Given the description of an element on the screen output the (x, y) to click on. 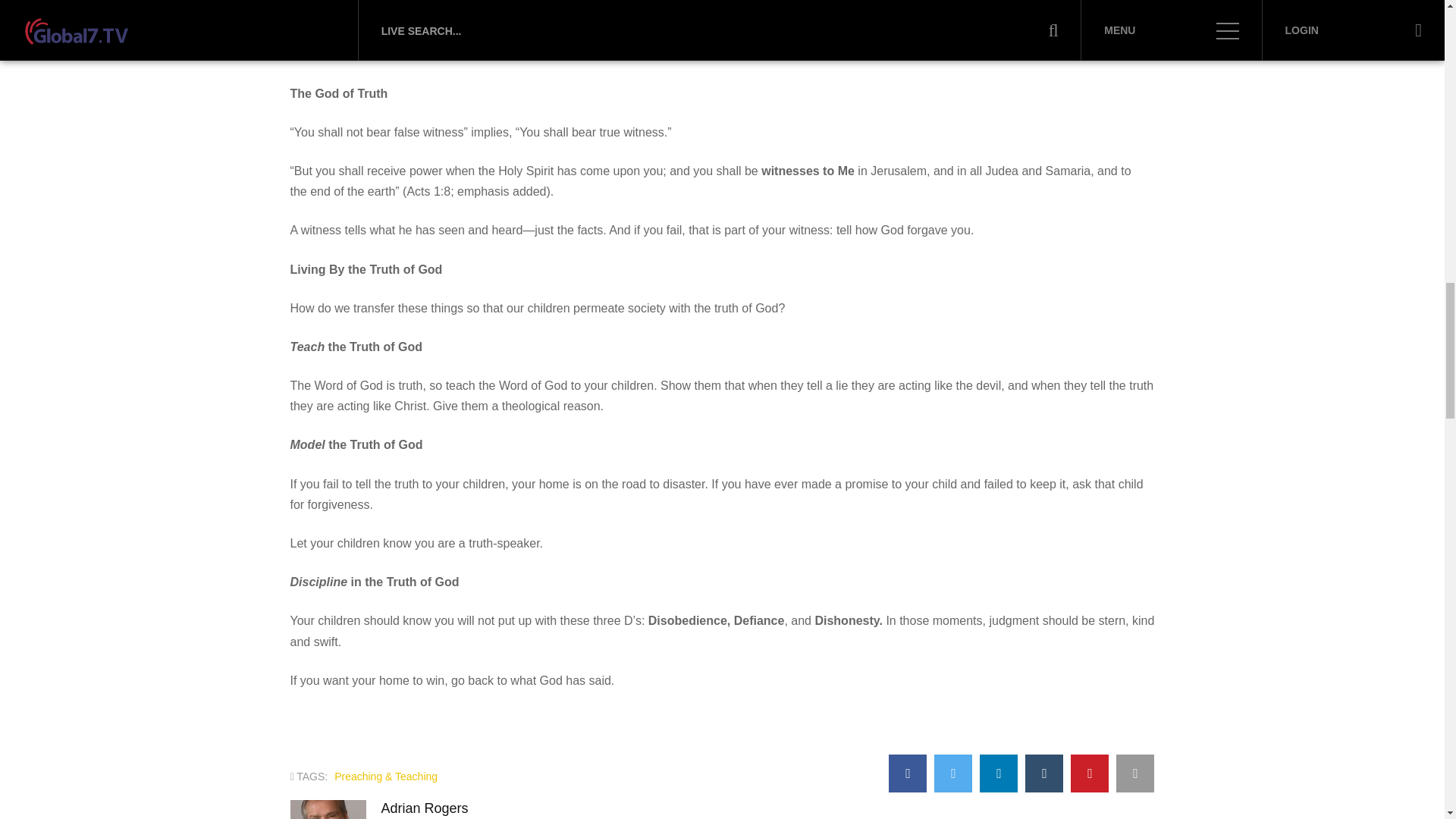
Share on Twitter (953, 773)
Pin this (1089, 773)
Share on Facebook (907, 773)
Email this (1135, 773)
Share on Tumblr (1043, 773)
Share on LinkedIn (998, 773)
